Given the description of an element on the screen output the (x, y) to click on. 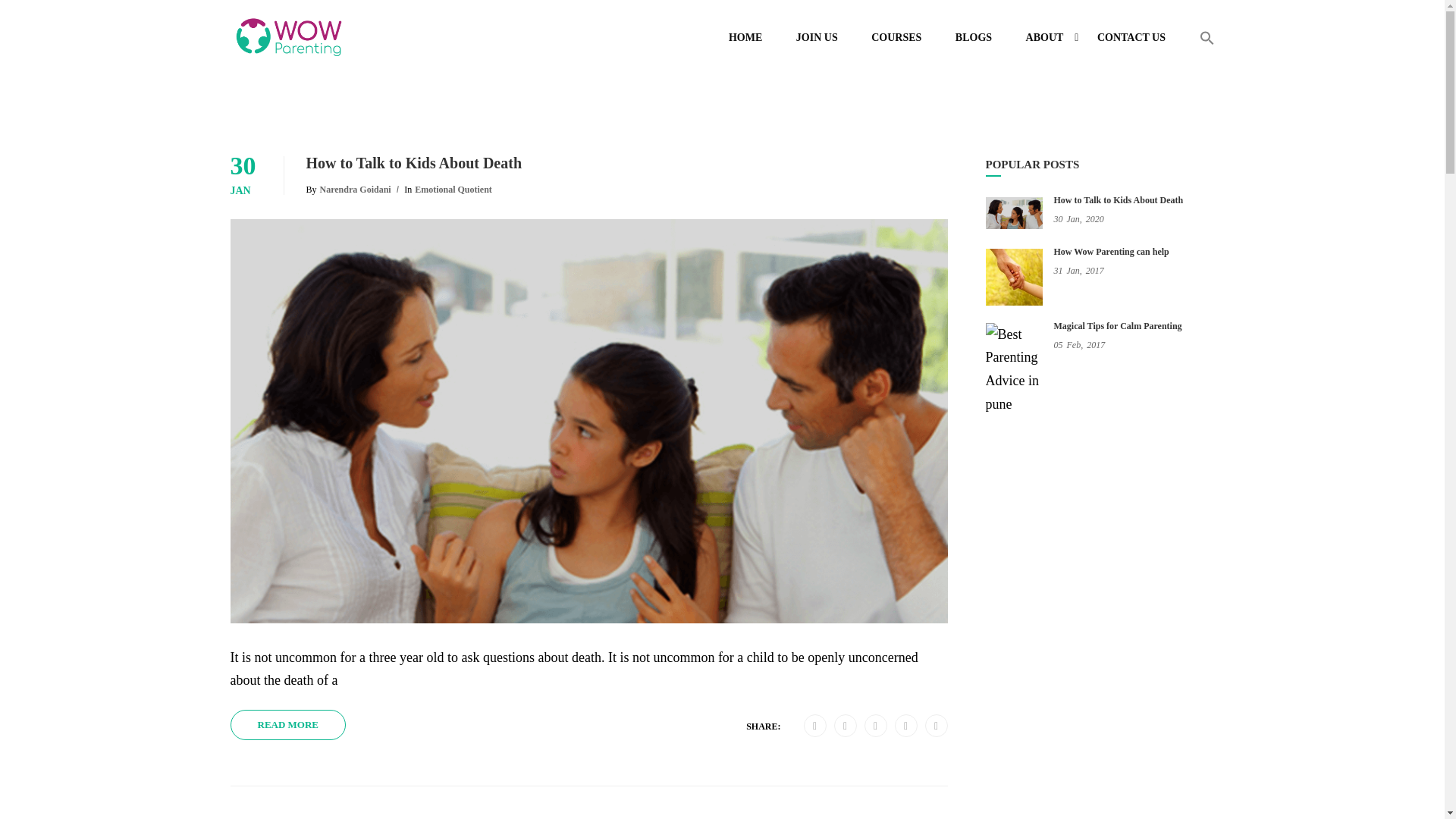
READ MORE (288, 725)
COURSES (896, 44)
ABOUT (1044, 44)
HOME (745, 44)
CONTACT US (1130, 44)
Narendra Goidani (354, 189)
How to Talk to Kids About Death (626, 162)
Emotional Quotient (452, 189)
JOIN US (816, 44)
WOW Parenting - Let's Make Parenting Right! (288, 44)
BLOGS (973, 44)
